Given the description of an element on the screen output the (x, y) to click on. 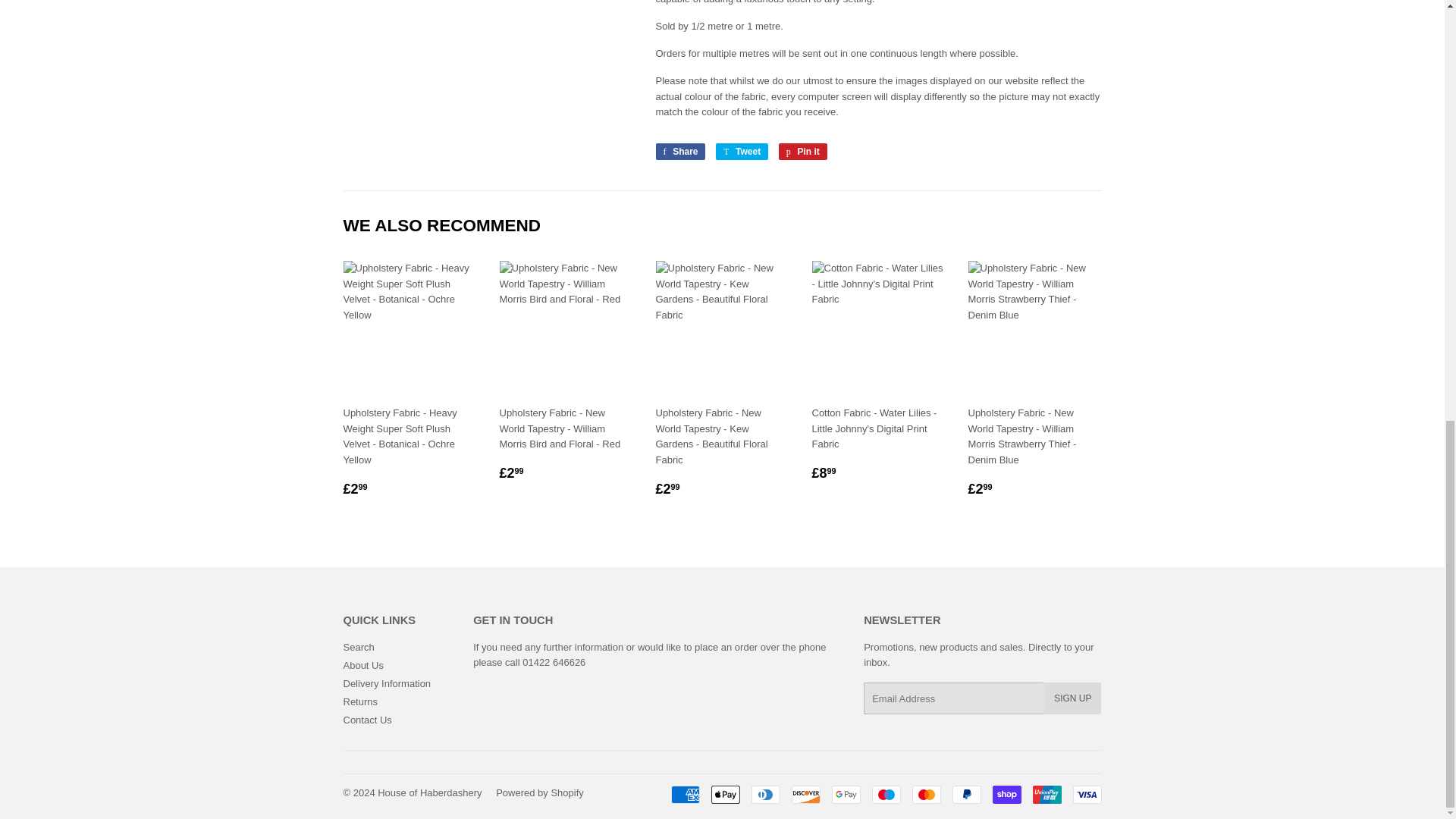
Share on Facebook (679, 151)
Maestro (886, 794)
PayPal (966, 794)
Shop Pay (1005, 794)
Discover (806, 794)
Google Pay (845, 794)
Diners Club (764, 794)
Apple Pay (725, 794)
Visa (1085, 794)
Mastercard (925, 794)
Tweet on Twitter (742, 151)
Pin on Pinterest (802, 151)
American Express (683, 794)
Union Pay (1046, 794)
